Given the description of an element on the screen output the (x, y) to click on. 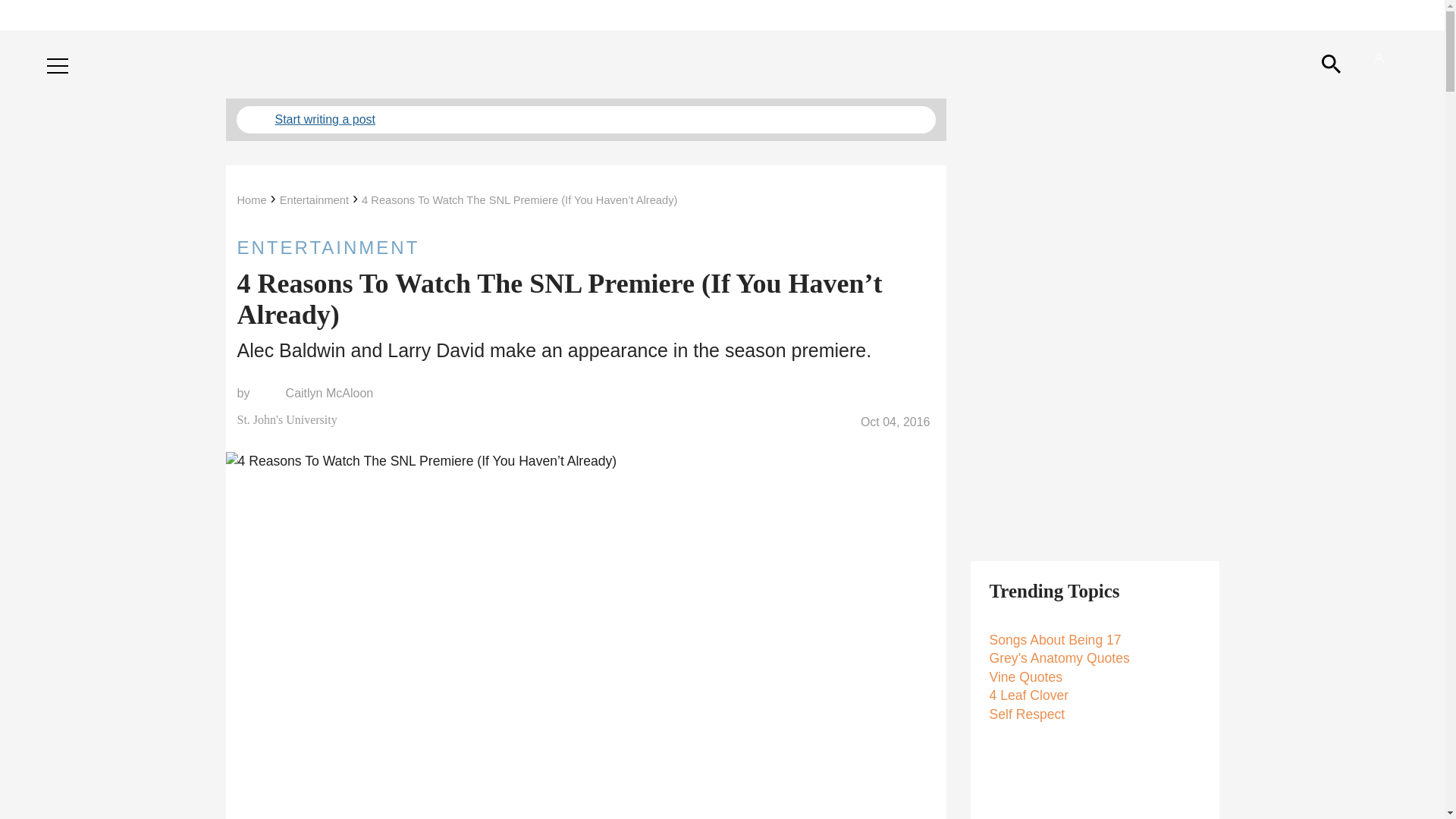
ENTERTAINMENT (584, 248)
Home (250, 200)
Caitlyn McAloon (329, 393)
Start writing a post (585, 119)
Entertainment (314, 200)
